Given the description of an element on the screen output the (x, y) to click on. 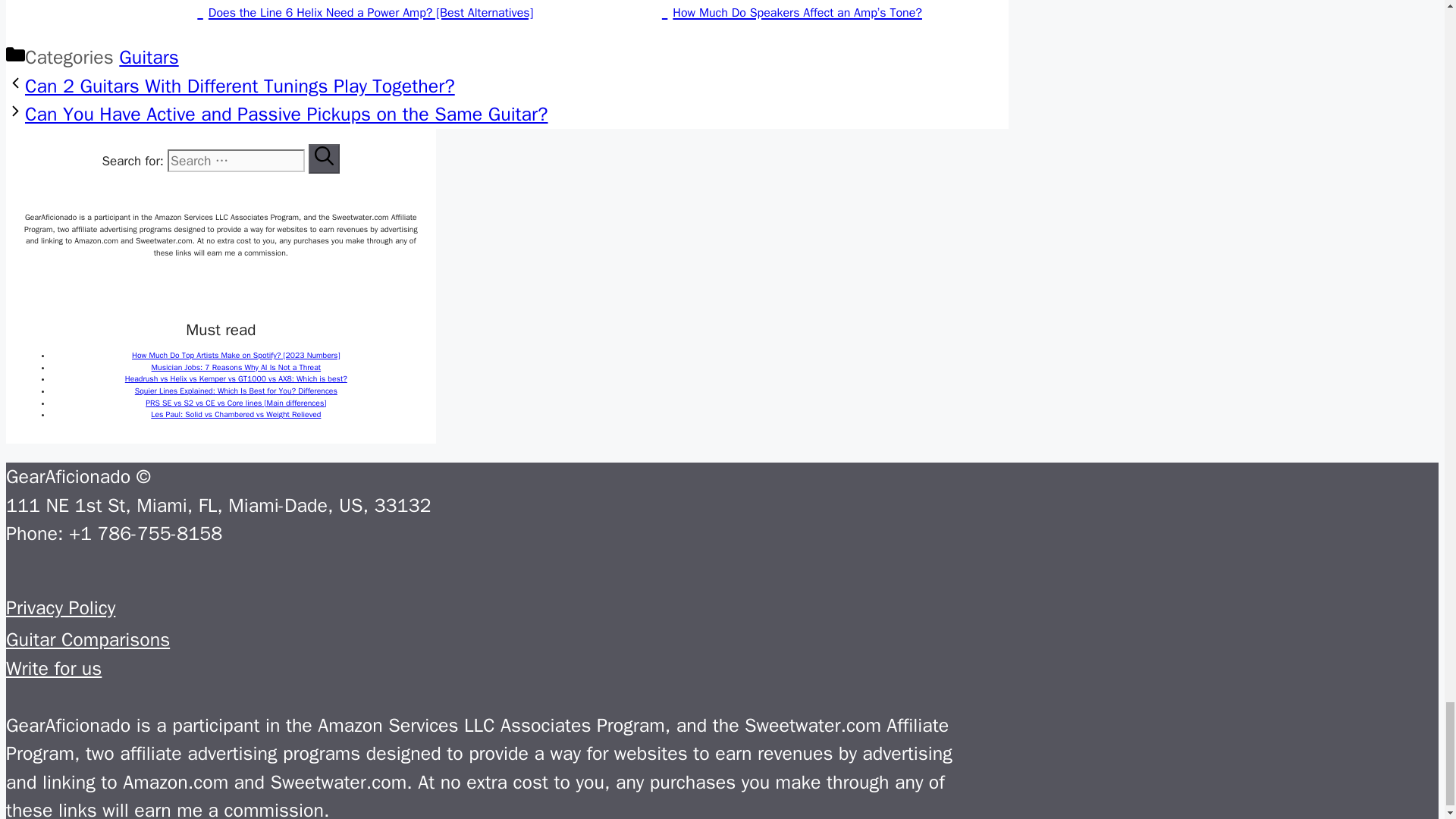
Headrush vs Helix vs Kemper vs GT1000 vs AX8: Which is best? (236, 378)
Guitars (148, 56)
Can 2 Guitars With Different Tunings Play Together? (239, 85)
Search for: (235, 160)
Musician Jobs: 7 Reasons Why AI Is Not a Threat (236, 367)
Can You Have Active and Passive Pickups on the Same Guitar? (286, 114)
